Given the description of an element on the screen output the (x, y) to click on. 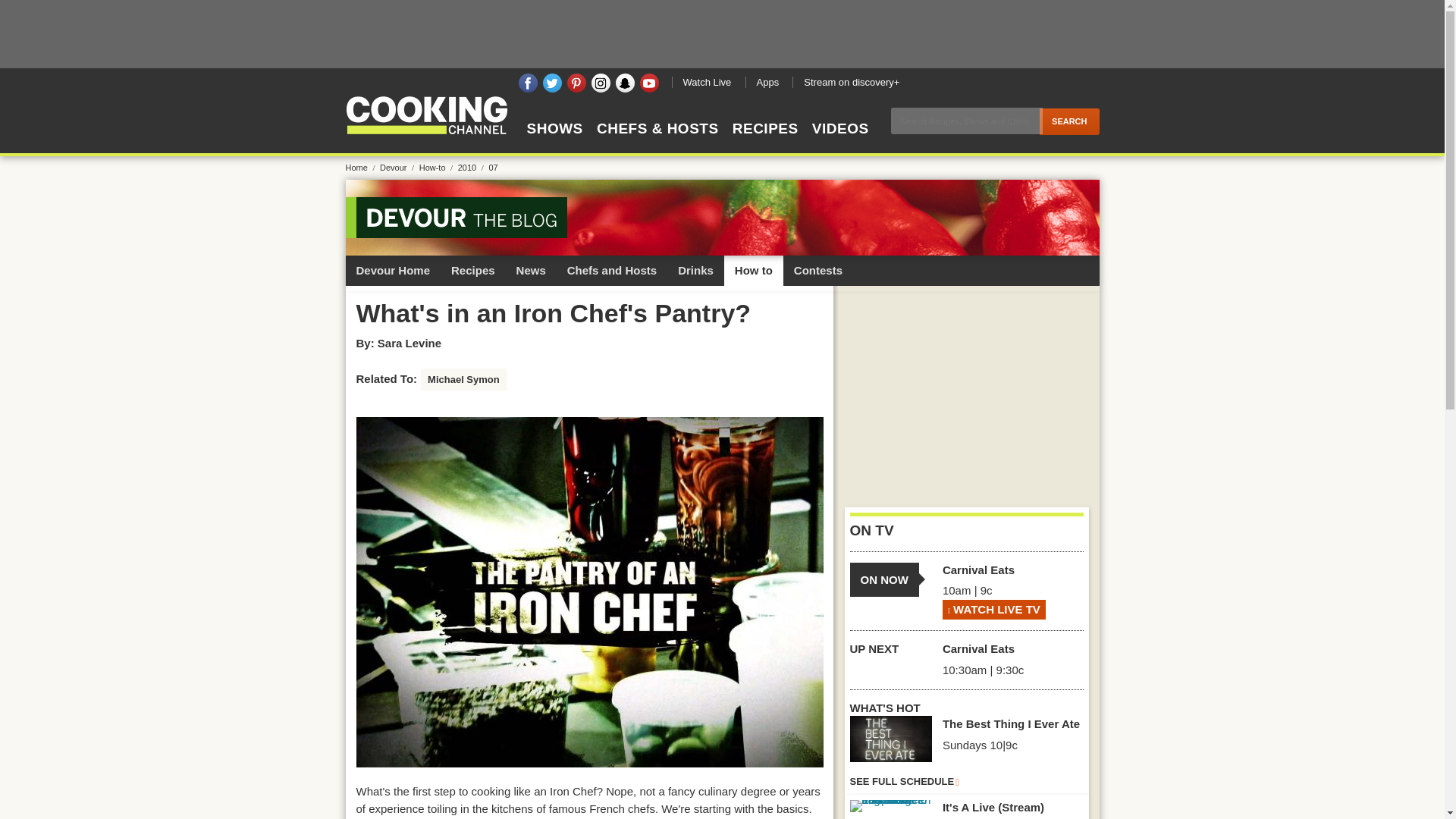
Follow us on Instagram (600, 82)
07 (492, 166)
How to (753, 269)
Follow us on Twitter (552, 82)
2010 (472, 166)
Watch Live (706, 81)
SHOWS (554, 141)
Follow us on YouTube (649, 82)
Recipes (473, 269)
Follow us on Pinterest (576, 82)
Home (361, 166)
How-to (437, 166)
Devour (398, 166)
Michael Symon (463, 379)
Apps (766, 81)
